Given the description of an element on the screen output the (x, y) to click on. 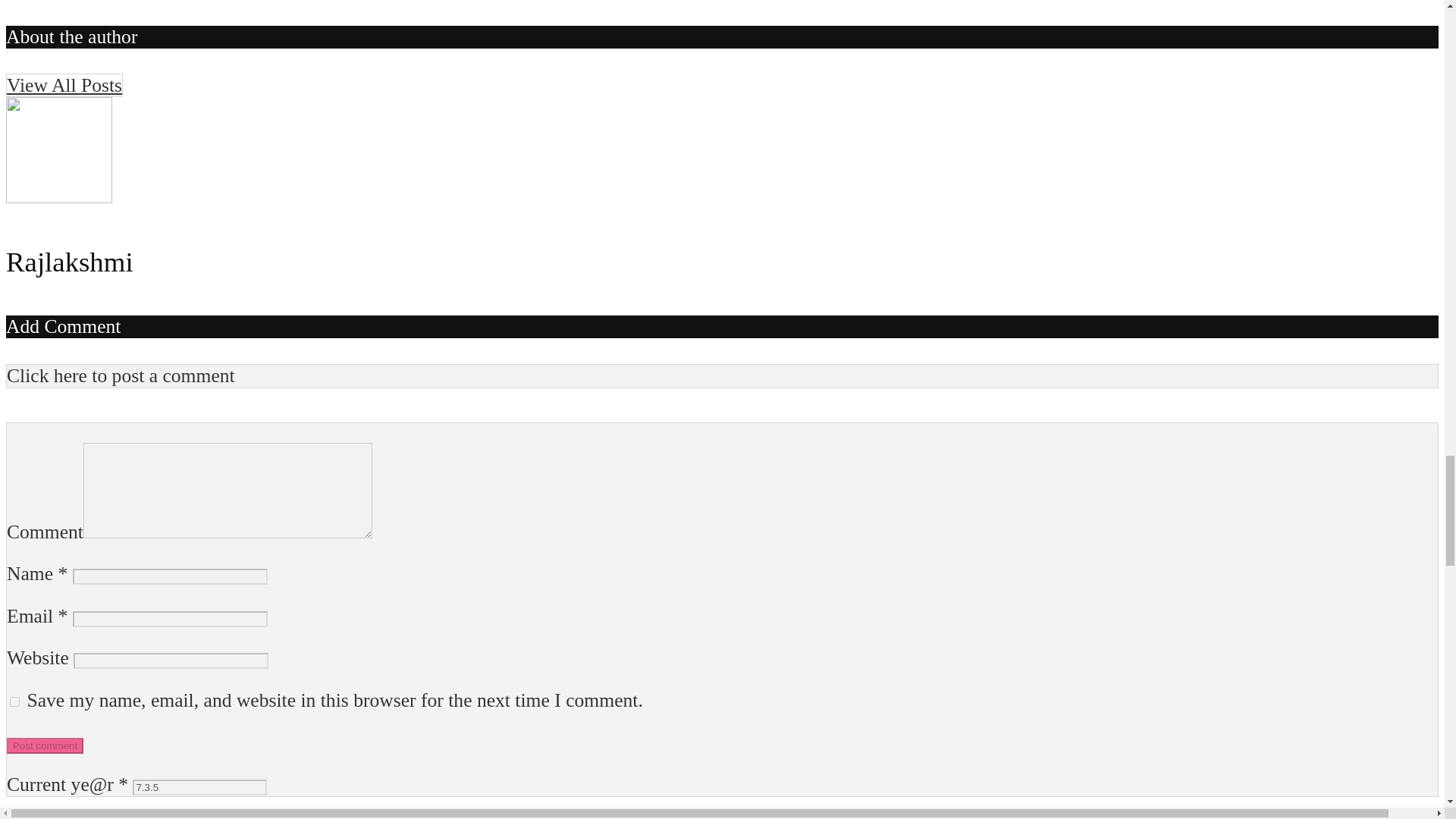
7.3.5 (199, 787)
Post comment (44, 744)
yes (15, 701)
